Given the description of an element on the screen output the (x, y) to click on. 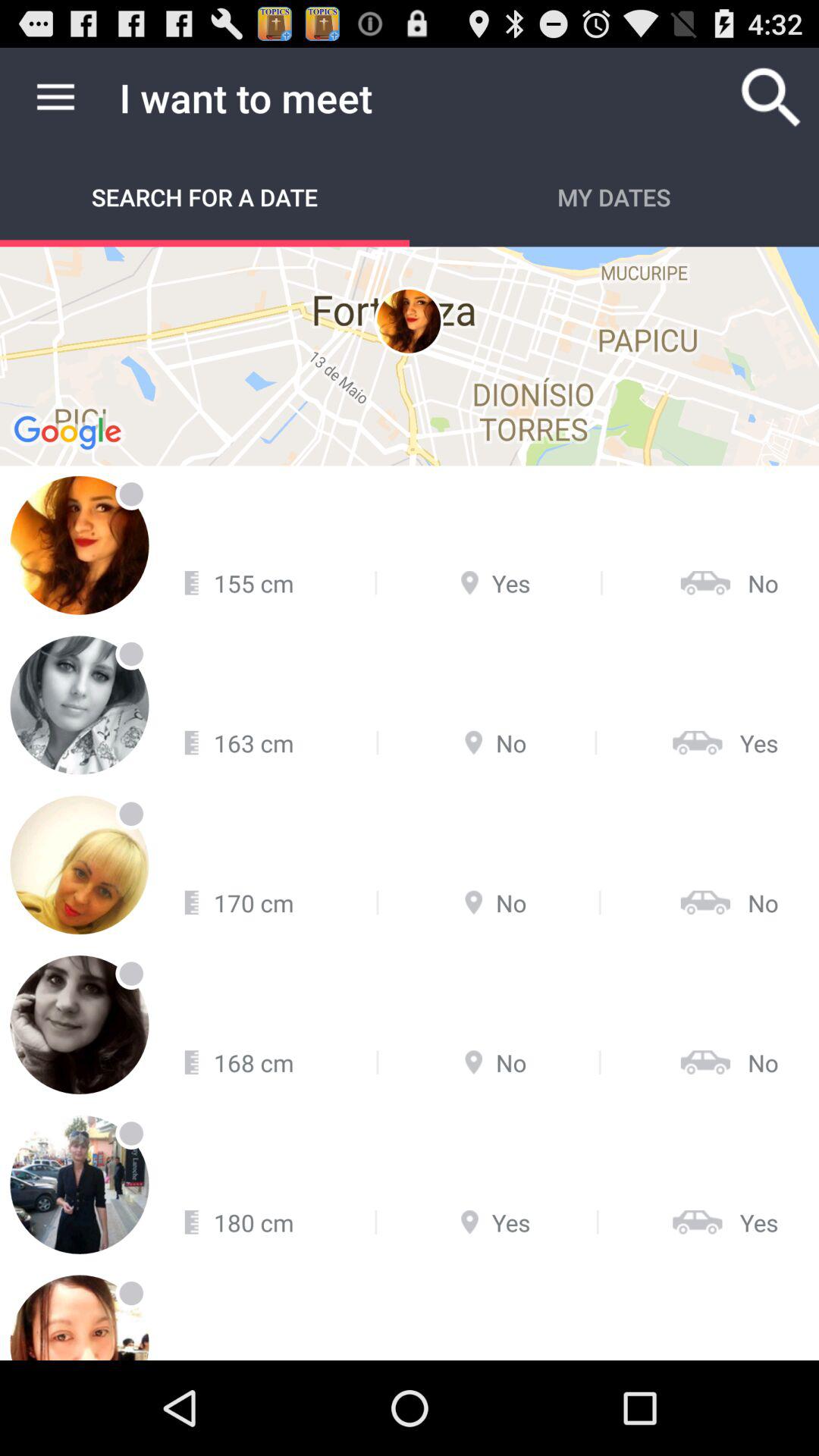
choose the item above search for a icon (55, 97)
